Given the description of an element on the screen output the (x, y) to click on. 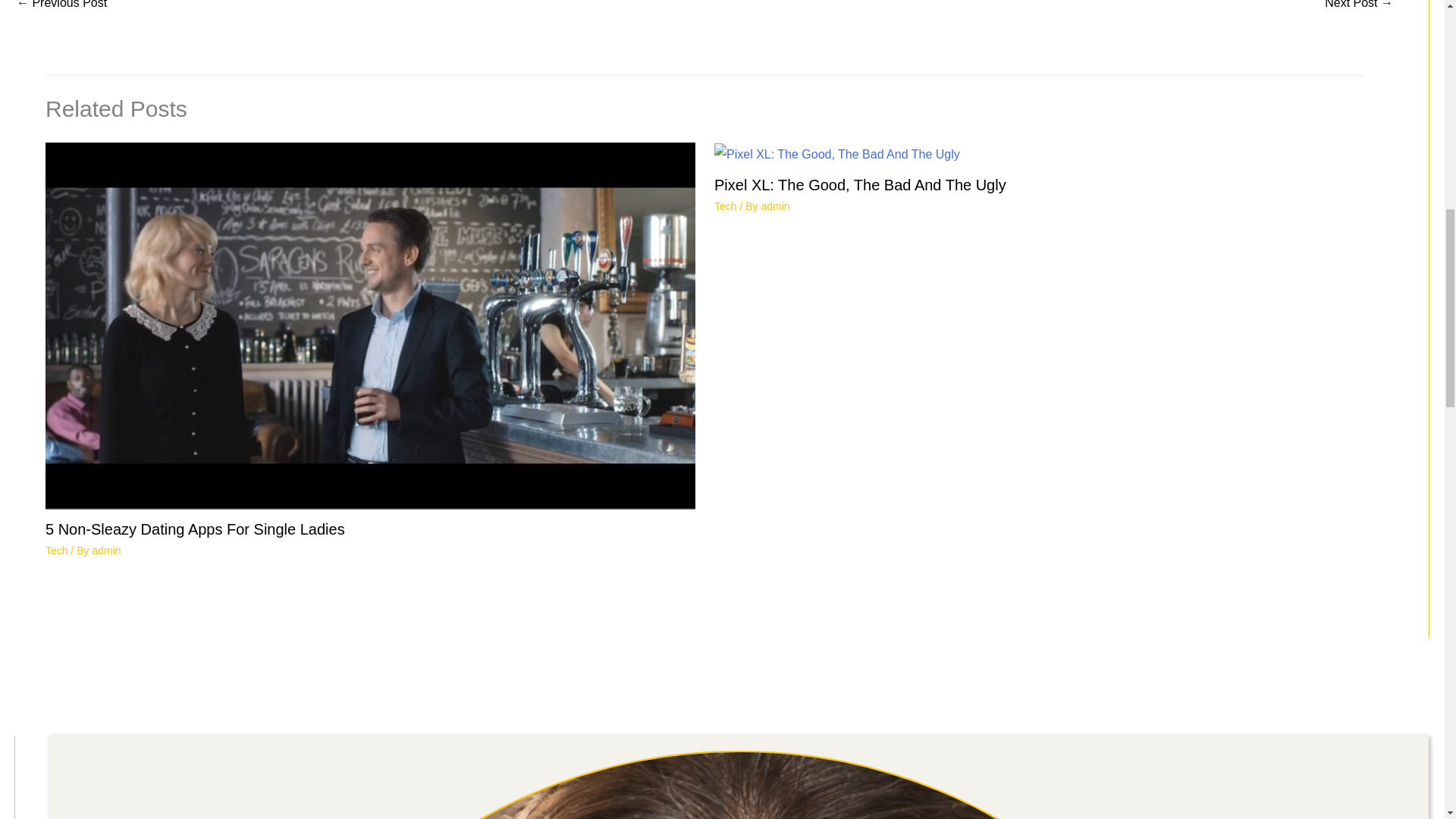
6 Unique Spots In Malta (1358, 9)
Perth - The West Coast Hot Spot (61, 9)
View all posts by admin (105, 550)
admin (774, 205)
Pixel XL: The Good, The Bad And The Ugly (860, 184)
5 Non-Sleazy Dating Apps For Single Ladies (195, 528)
Tech (725, 205)
Tech (56, 550)
admin (105, 550)
View all posts by admin (774, 205)
